Given the description of an element on the screen output the (x, y) to click on. 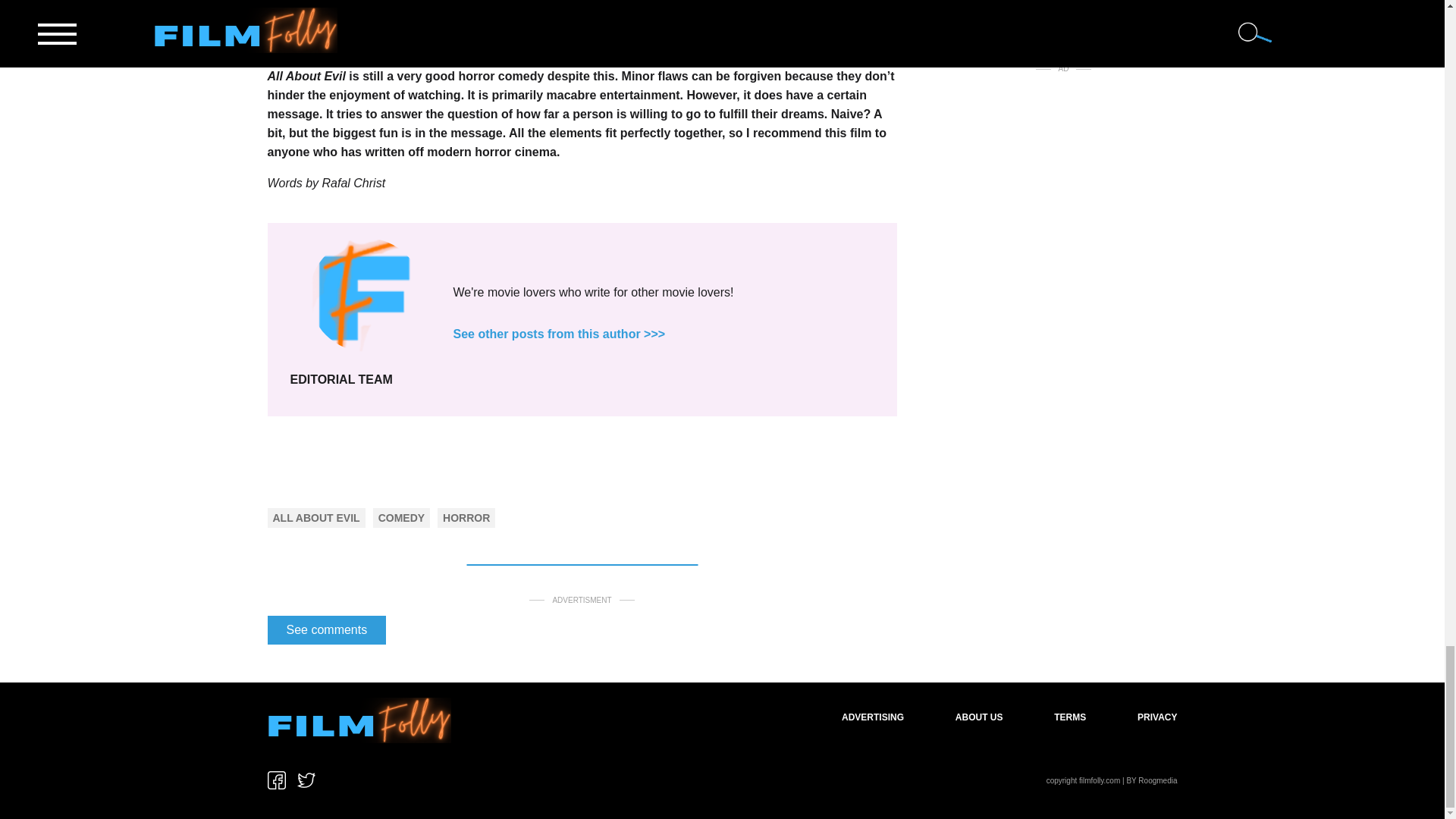
See comments (325, 629)
HORROR (465, 517)
COMEDY (401, 517)
ALL ABOUT EVIL (316, 517)
